Given the description of an element on the screen output the (x, y) to click on. 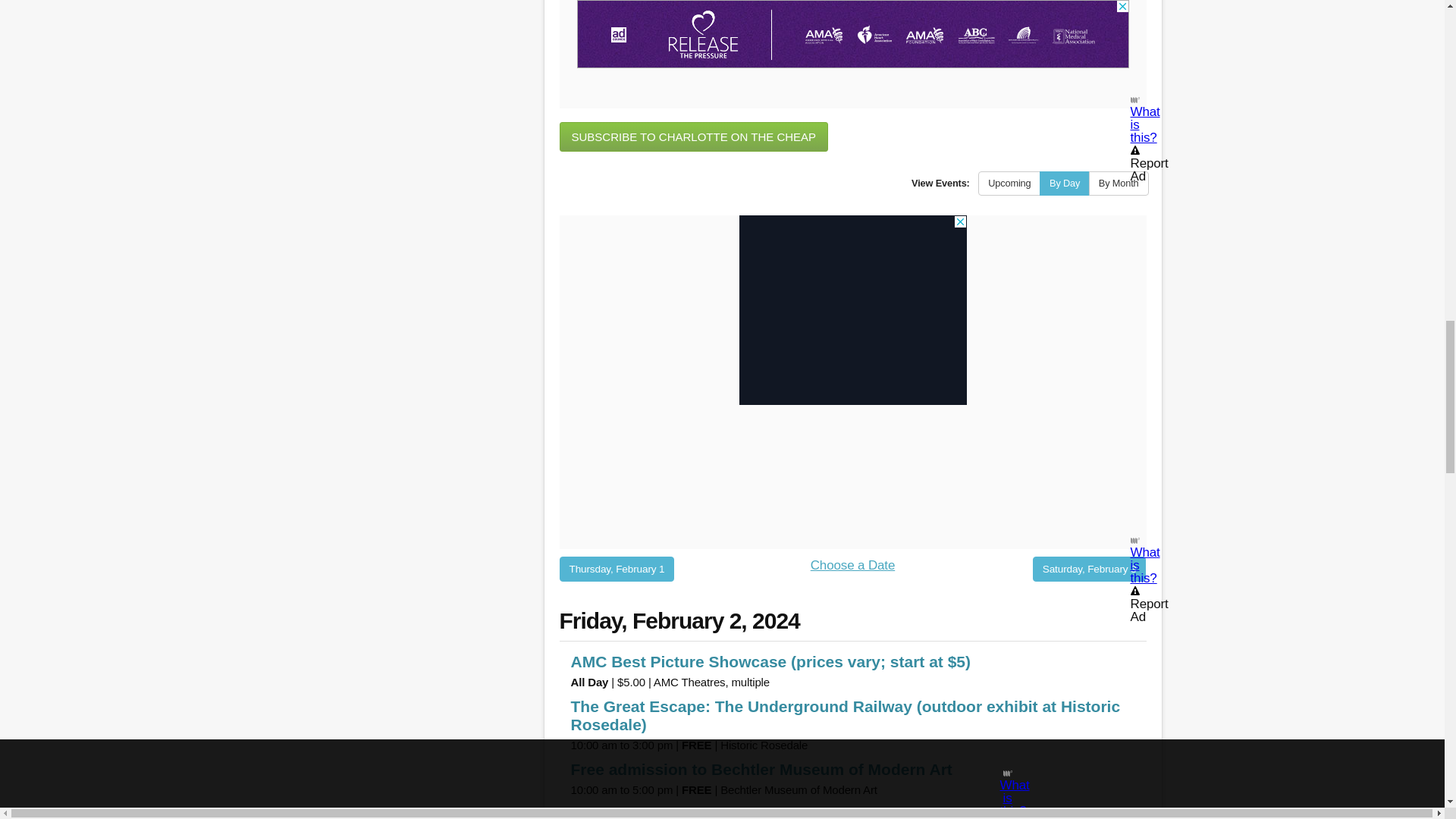
3rd party ad content (852, 309)
